Given the description of an element on the screen output the (x, y) to click on. 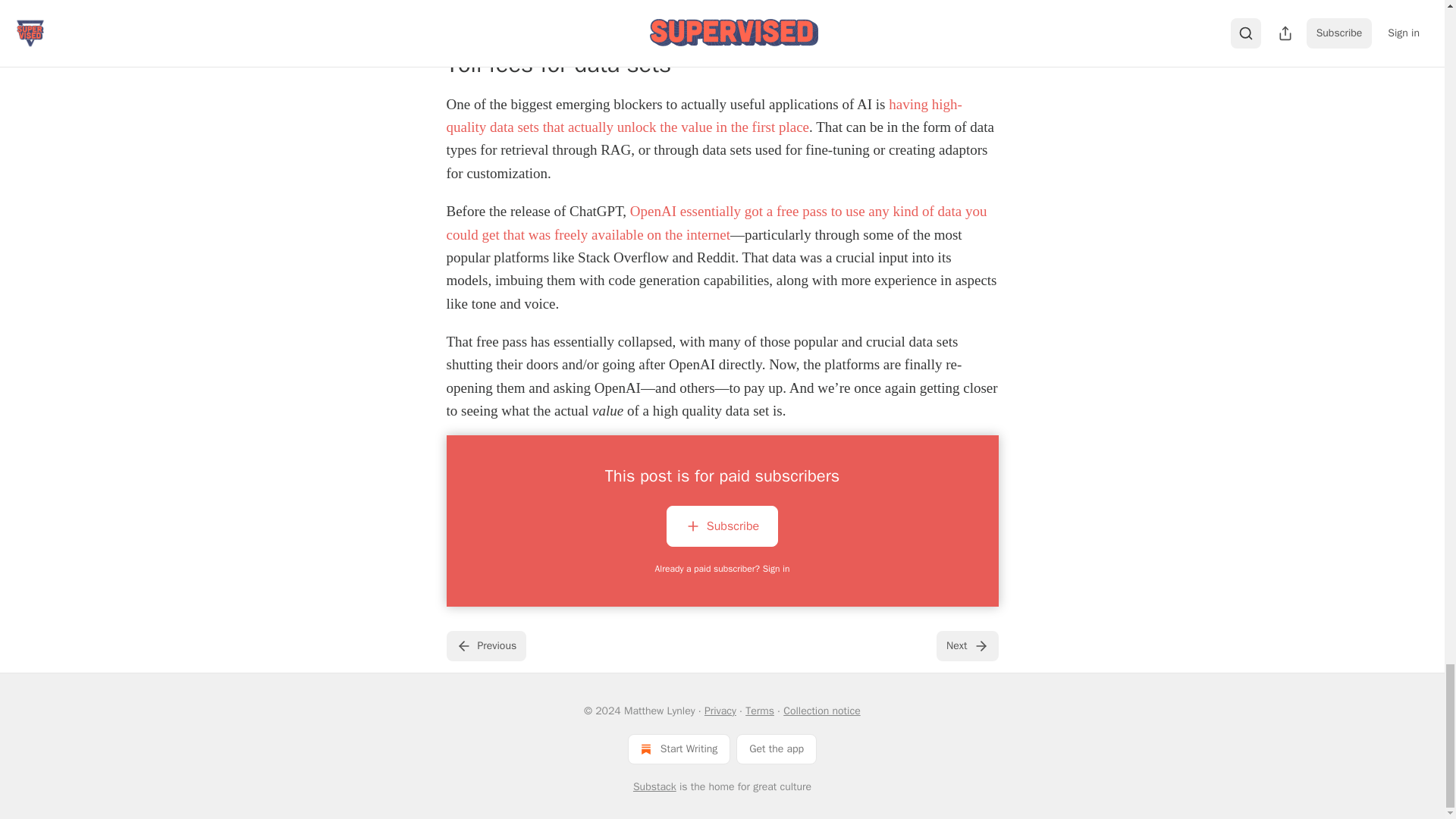
Subscribe (721, 529)
Already a paid subscriber? Sign in (722, 568)
Previous (485, 645)
Subscribe (721, 526)
Next (966, 645)
